Given the description of an element on the screen output the (x, y) to click on. 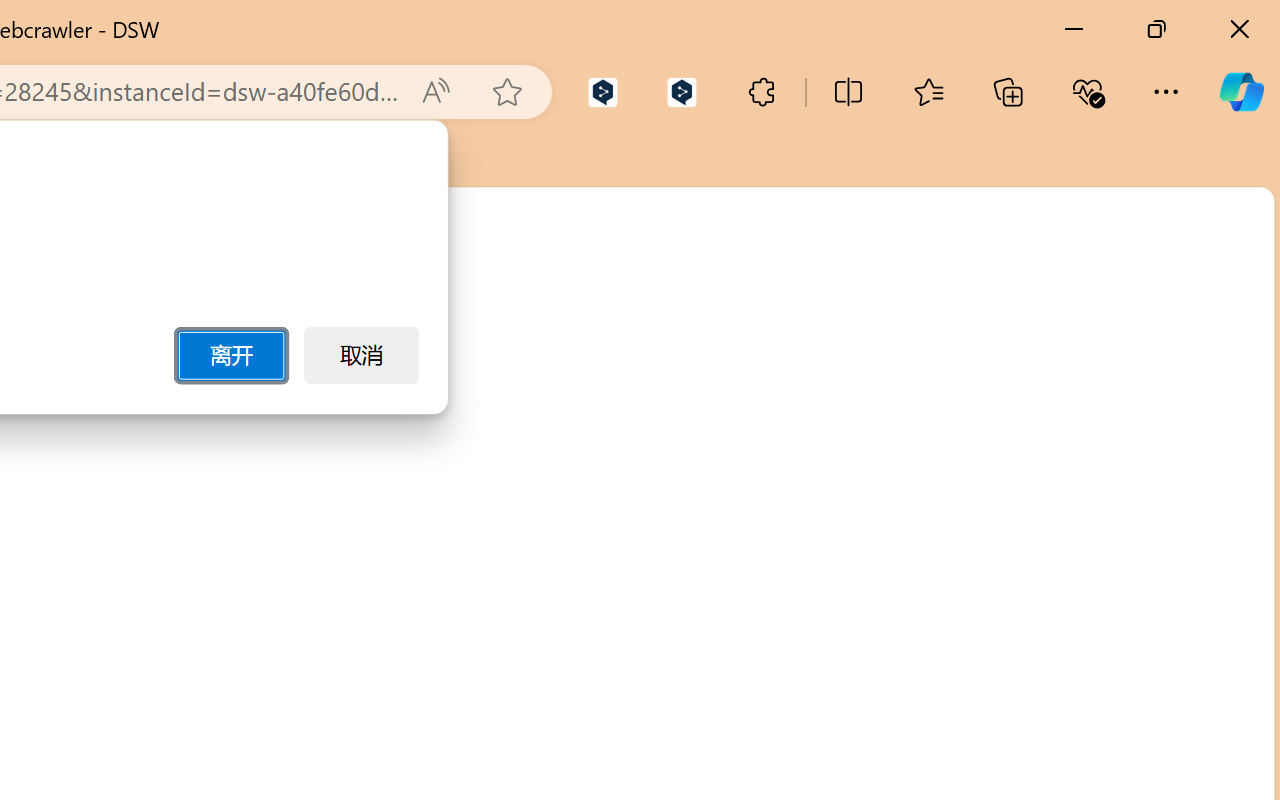
Copilot (Ctrl+Shift+.) (1241, 91)
